Given the description of an element on the screen output the (x, y) to click on. 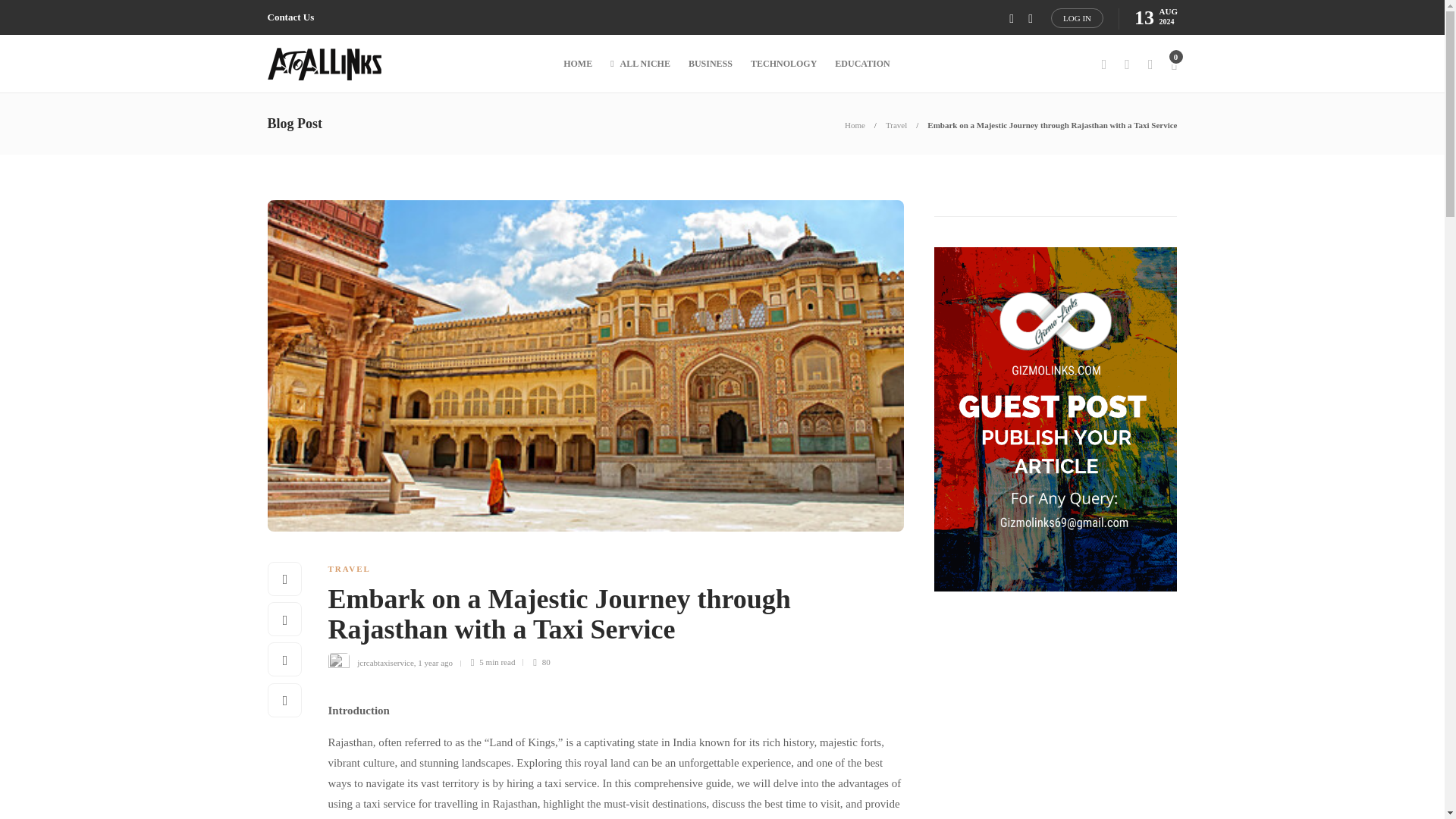
jcrcabtaxiservice (384, 661)
Contact Us (290, 17)
Travel (896, 124)
ALL NICHE (639, 63)
EDUCATION (861, 63)
Home (854, 124)
TRAVEL (348, 568)
LOG IN (1077, 17)
